Given the description of an element on the screen output the (x, y) to click on. 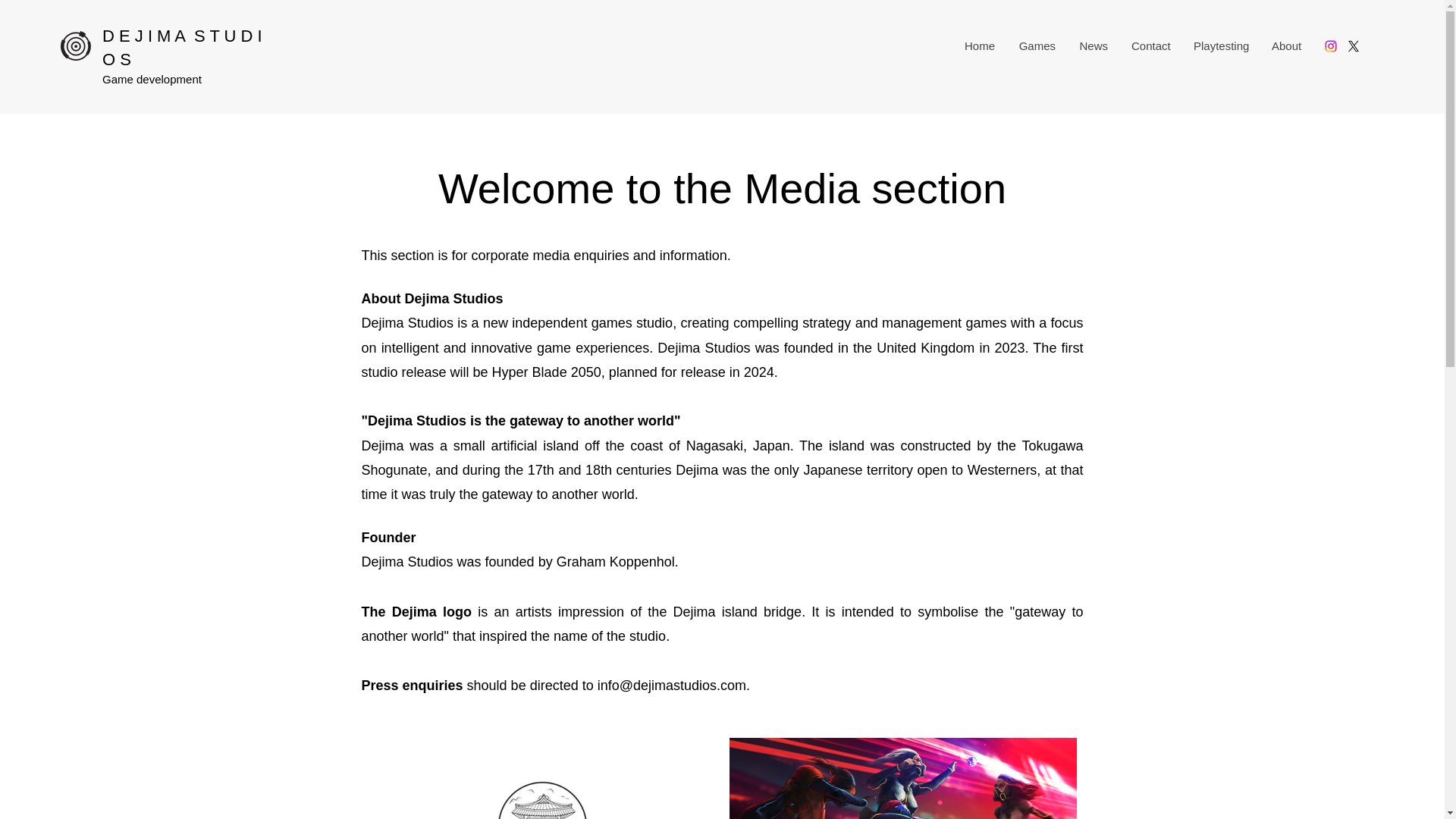
D E J I M A  S T U D I O S (181, 47)
Home (979, 46)
Games (1036, 46)
About (1286, 46)
Contact (1149, 46)
Playtesting (1219, 46)
News (1093, 46)
